Given the description of an element on the screen output the (x, y) to click on. 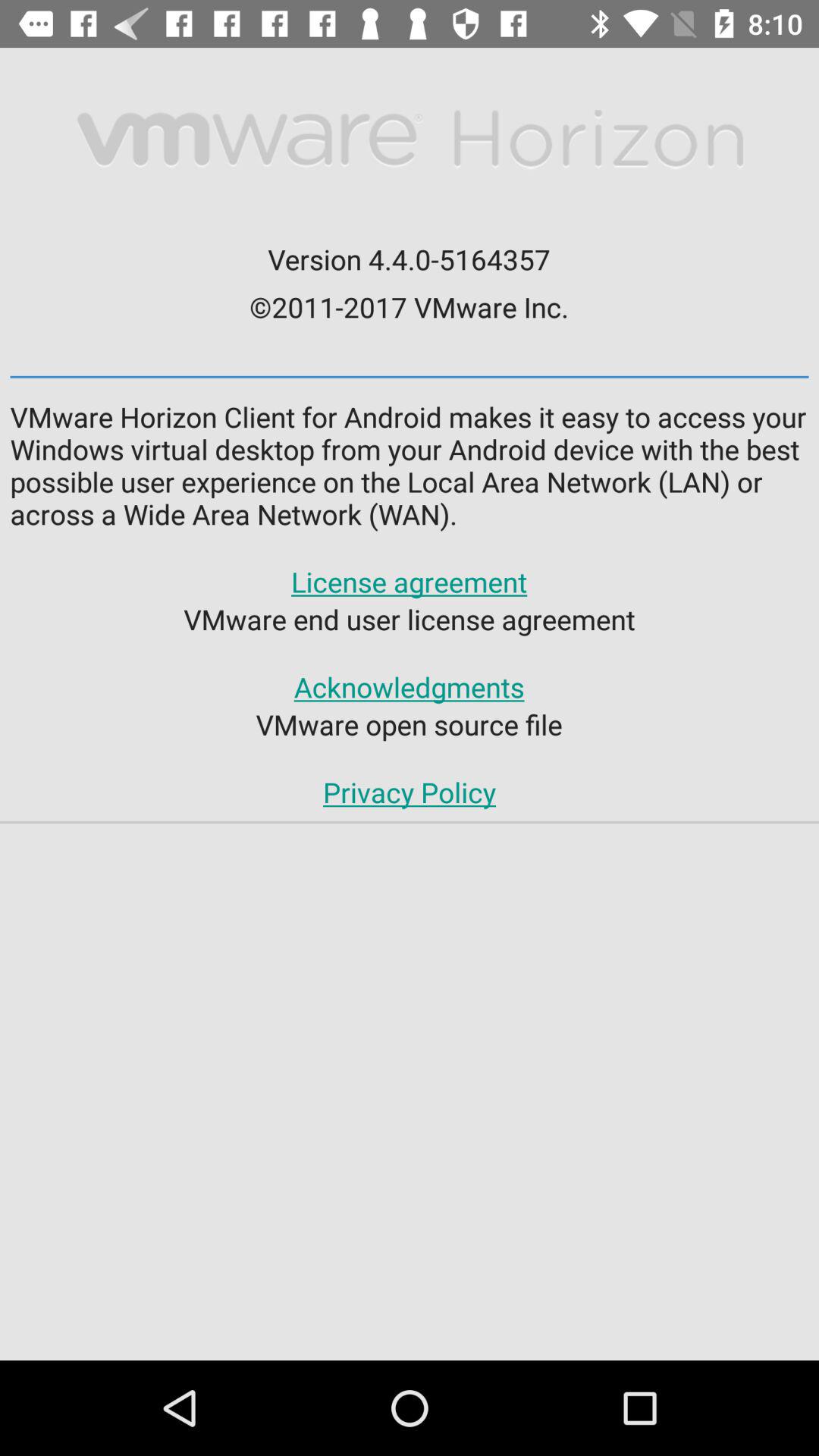
flip to the vmware open source app (408, 724)
